Given the description of an element on the screen output the (x, y) to click on. 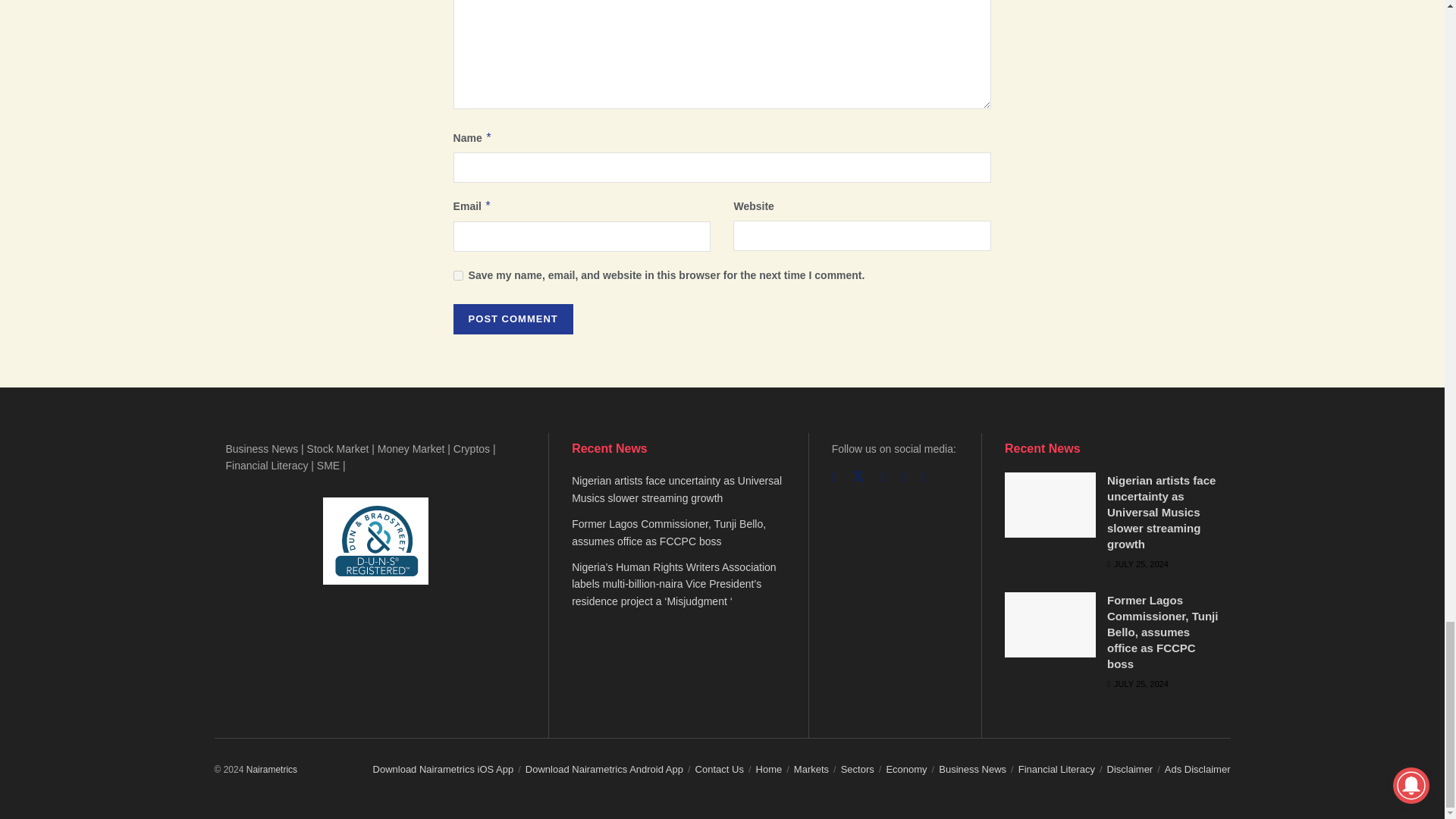
Post Comment (512, 318)
yes (457, 275)
Nairametrics (271, 769)
